Given the description of an element on the screen output the (x, y) to click on. 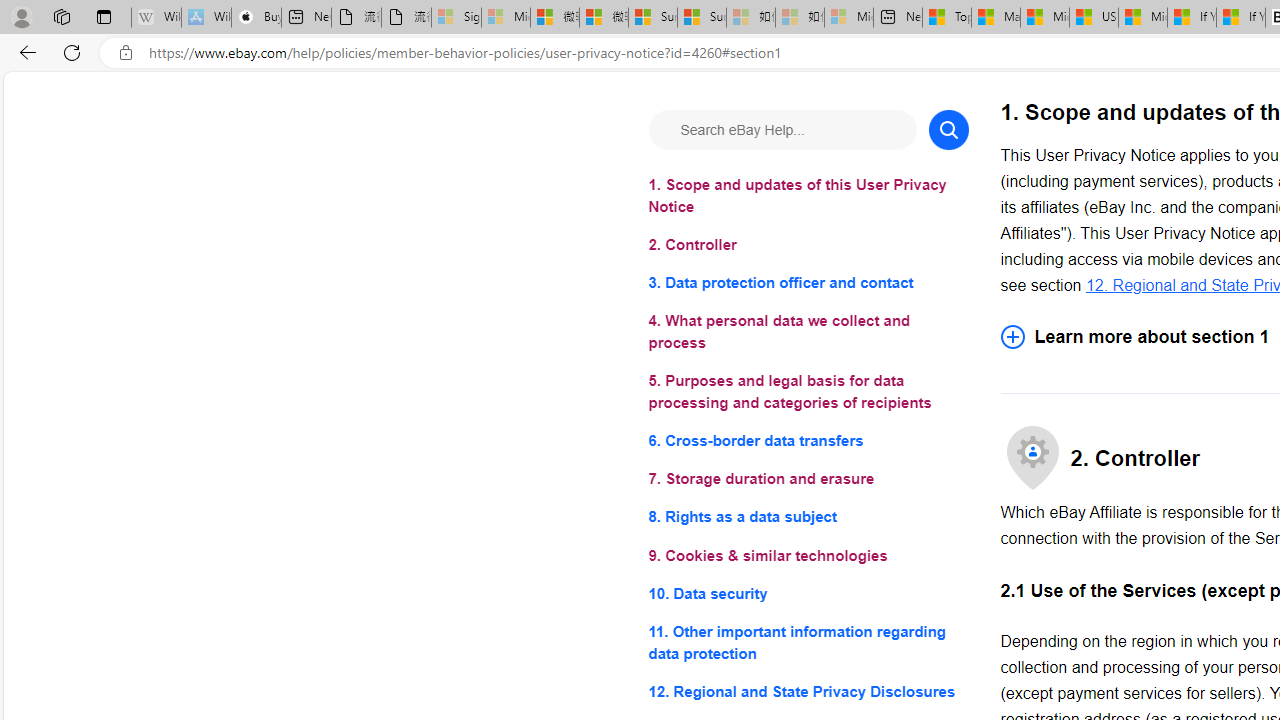
8. Rights as a data subject (807, 517)
9. Cookies & similar technologies (807, 555)
9. Cookies & similar technologies (807, 555)
7. Storage duration and erasure (807, 479)
3. Data protection officer and contact (807, 283)
4. What personal data we collect and process (807, 332)
6. Cross-border data transfers (807, 440)
2. Controller (807, 245)
